Given the description of an element on the screen output the (x, y) to click on. 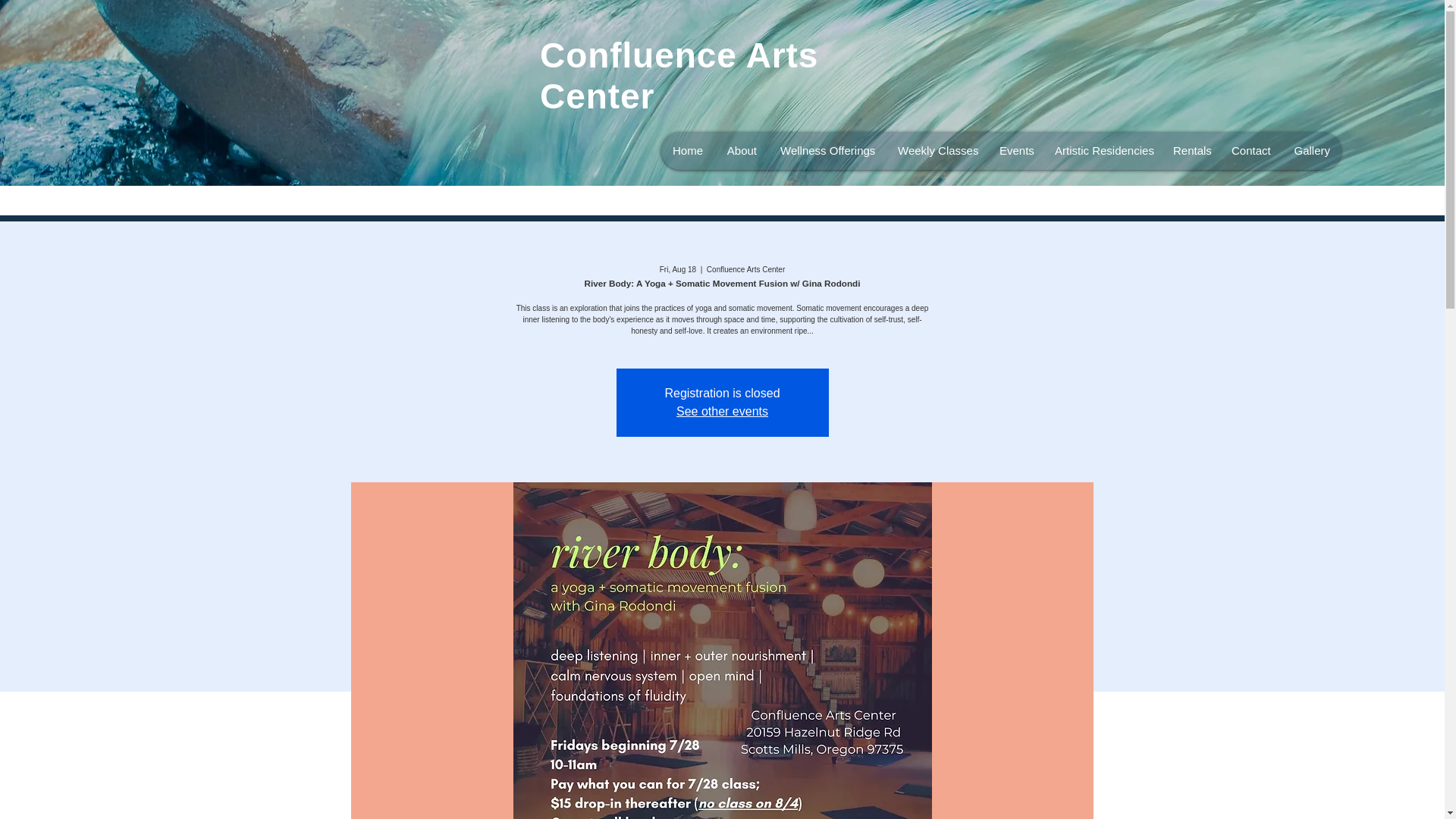
Gallery (1310, 150)
About (741, 150)
See other events (722, 410)
Confluence Arts Center (679, 76)
Wellness Offerings (826, 150)
Rentals (1190, 150)
Contact (1250, 150)
Artistic Residencies (1101, 150)
Home (687, 150)
Weekly Classes (936, 150)
